Given the description of an element on the screen output the (x, y) to click on. 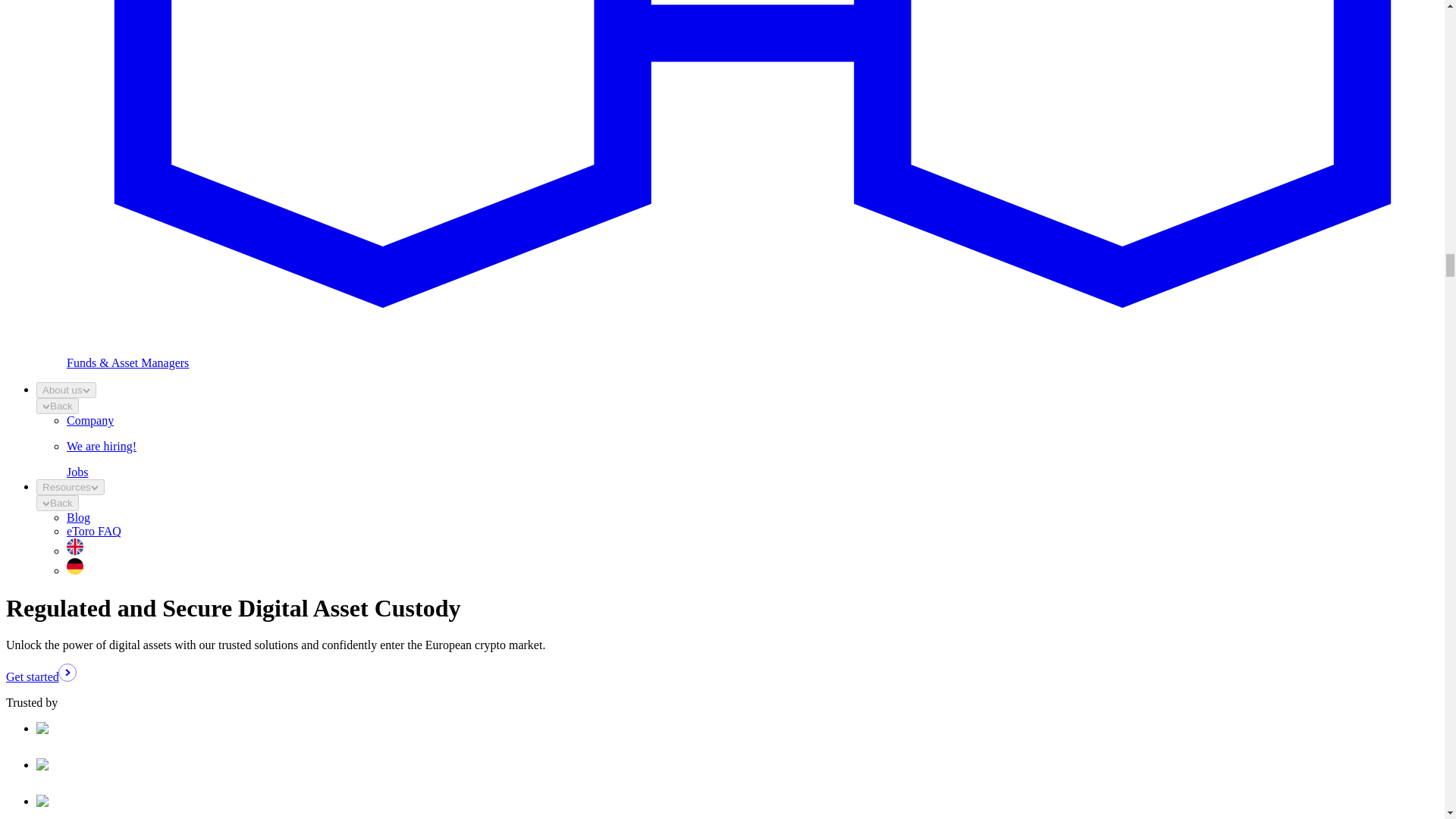
About us (66, 390)
eToro FAQ (93, 530)
Back (57, 503)
Blog (78, 517)
Get started (40, 676)
Resources (70, 487)
Back (57, 406)
Company (89, 420)
